Given the description of an element on the screen output the (x, y) to click on. 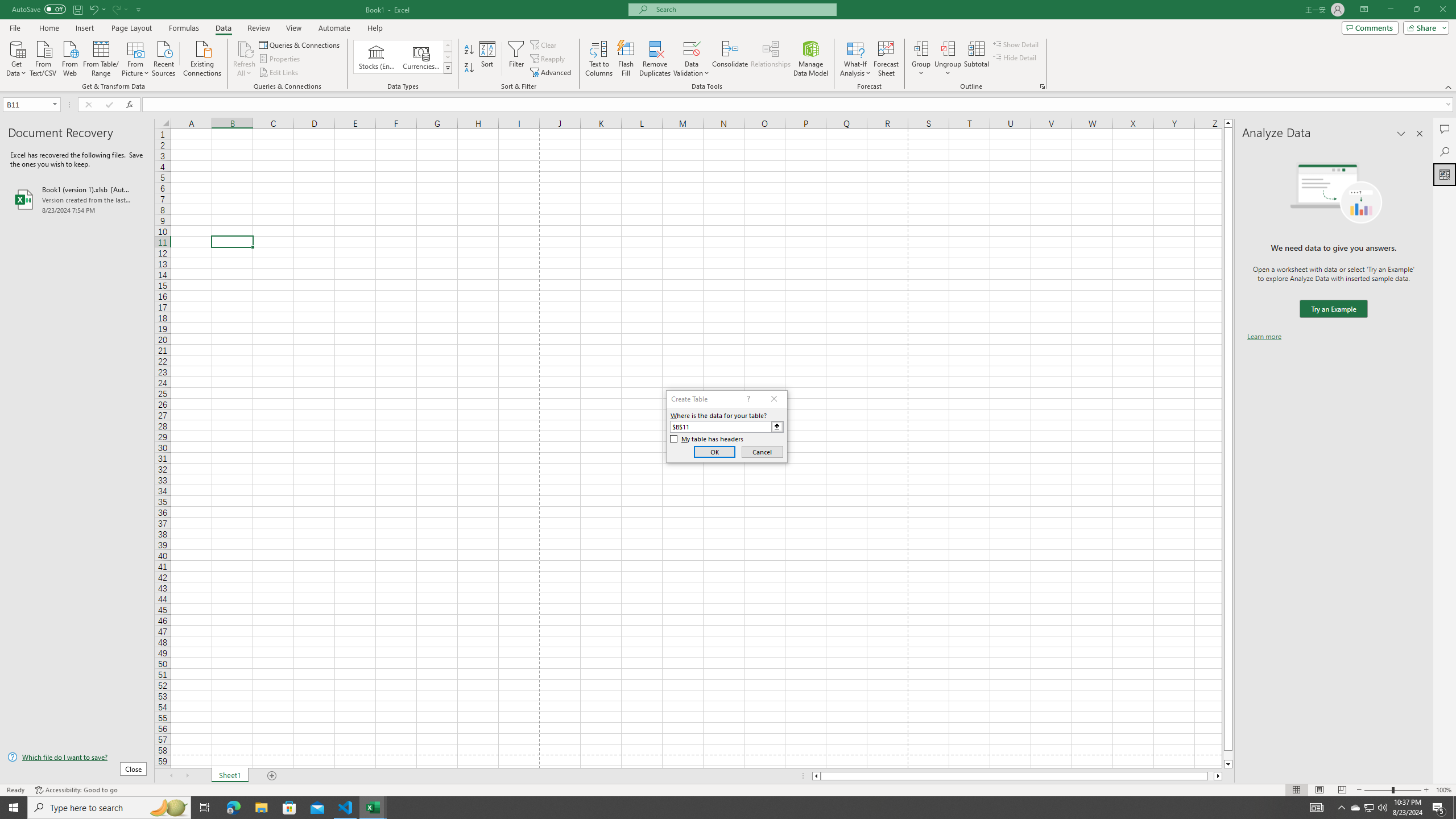
Page down (1228, 755)
Data Types (448, 67)
AutoSave (38, 9)
Reapply (548, 58)
From Web (69, 57)
